Given the description of an element on the screen output the (x, y) to click on. 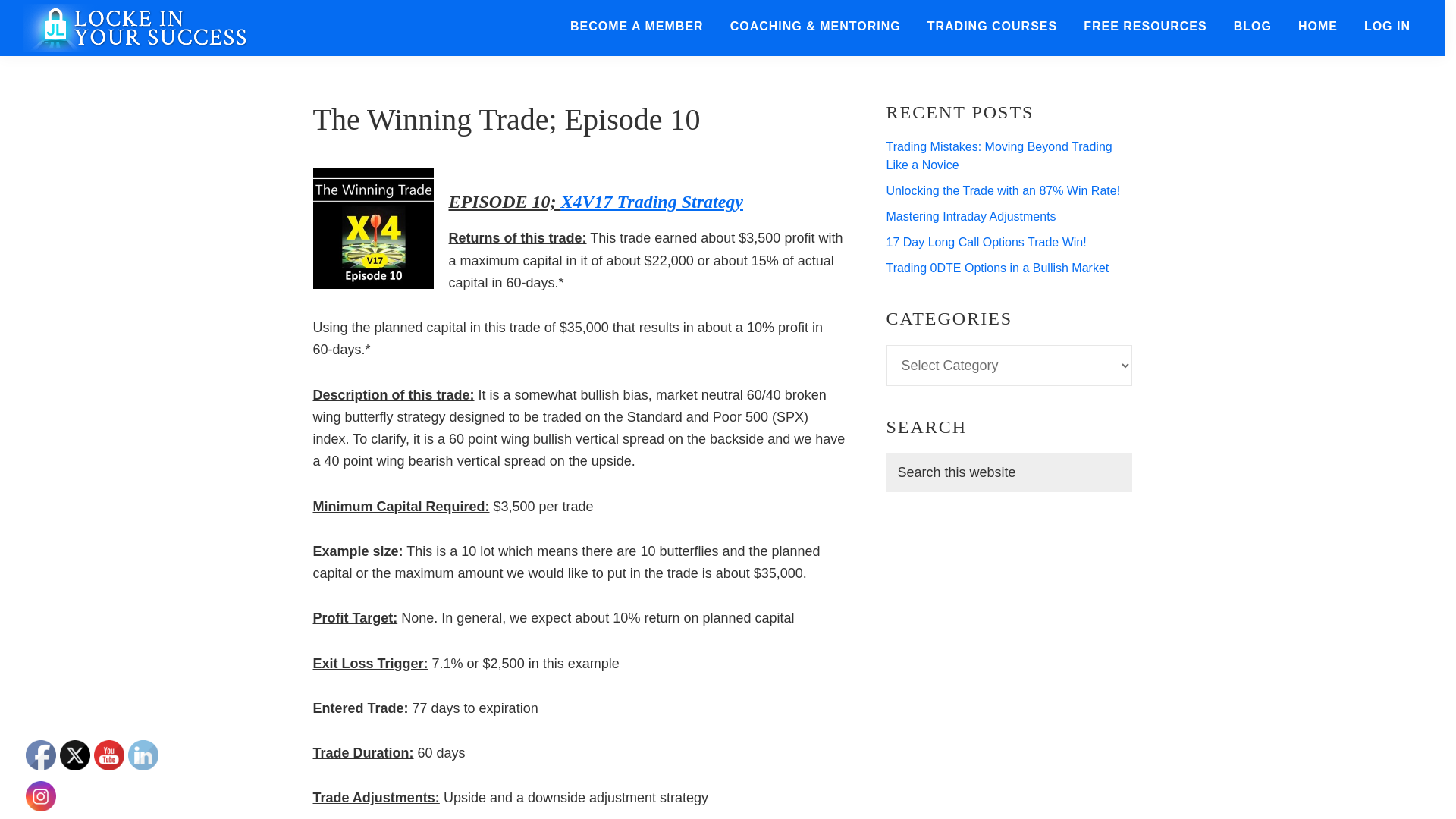
LinkedIn (143, 755)
TRADING COURSES (991, 26)
Facebook (41, 755)
Twitter (74, 755)
YouTube (108, 755)
BECOME A MEMBER (636, 26)
Instagram (41, 796)
